Given the description of an element on the screen output the (x, y) to click on. 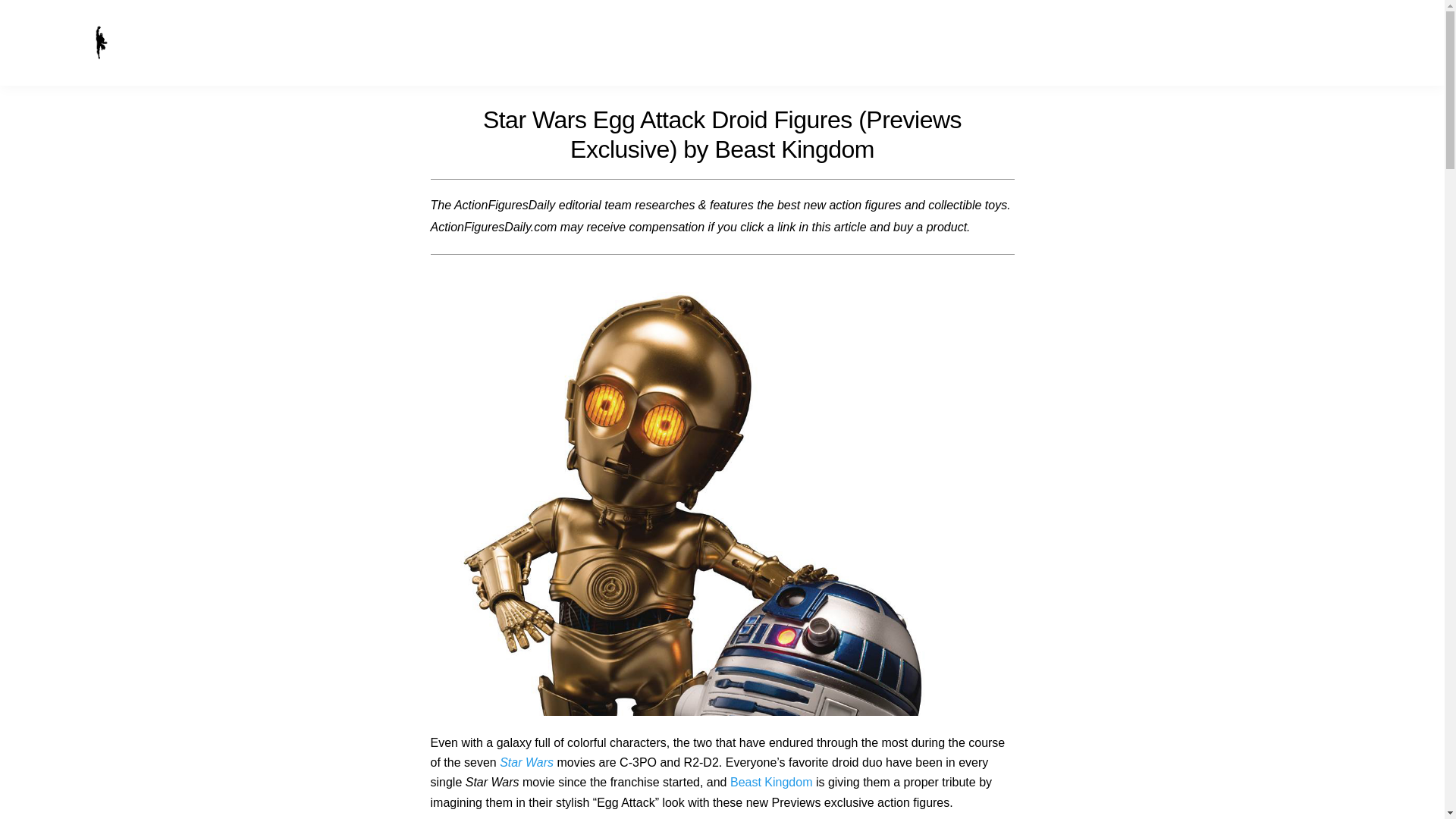
SEARCH (1421, 39)
Beast Kingdom (771, 781)
Star Wars (526, 762)
NEW RELEASES (1138, 42)
FACEBOOK (1373, 39)
ACTION FIGURE NEWS (1254, 42)
INSTAGRAM (1397, 39)
